Given the description of an element on the screen output the (x, y) to click on. 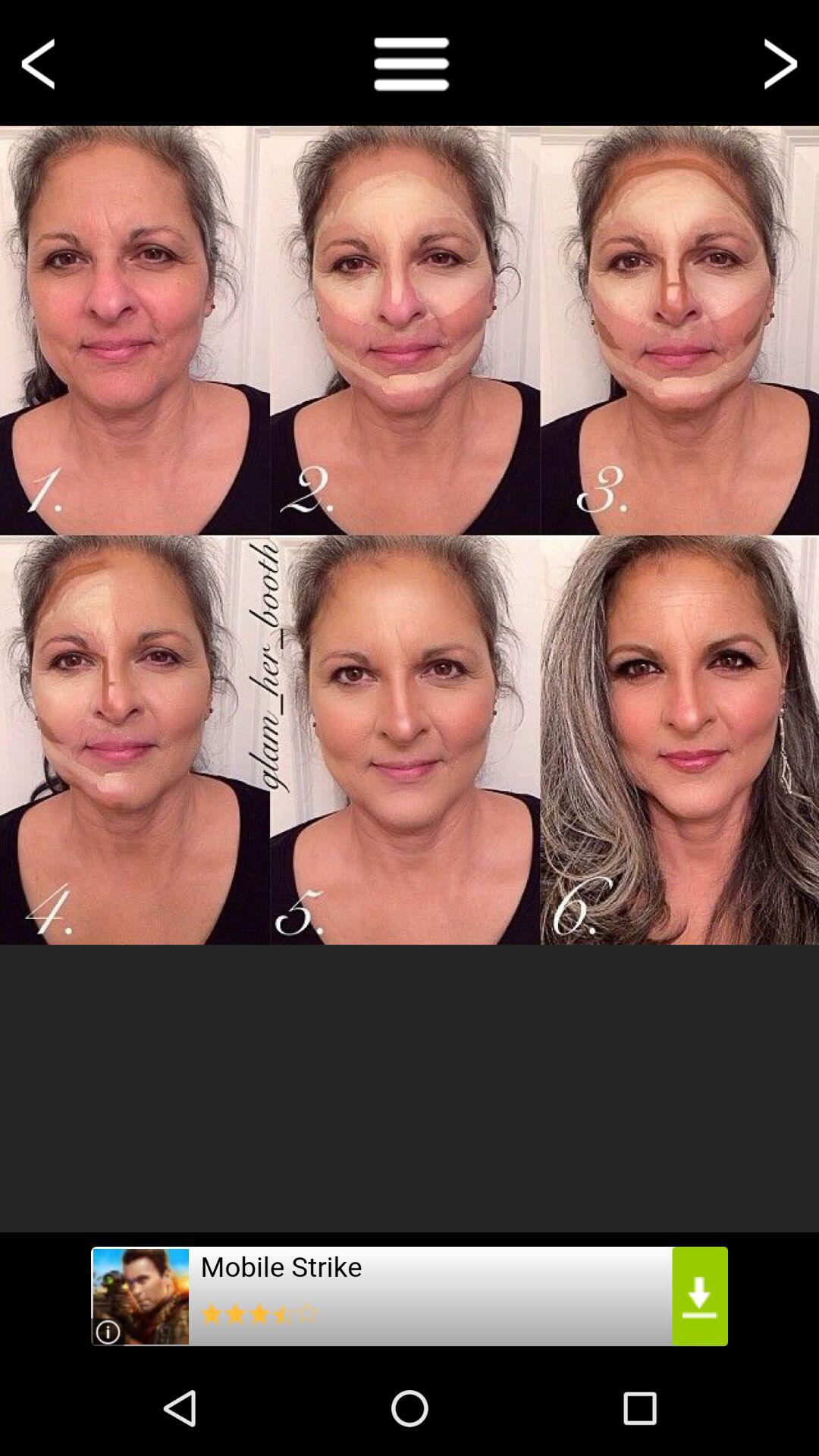
check out the advertisement (409, 1296)
